Given the description of an element on the screen output the (x, y) to click on. 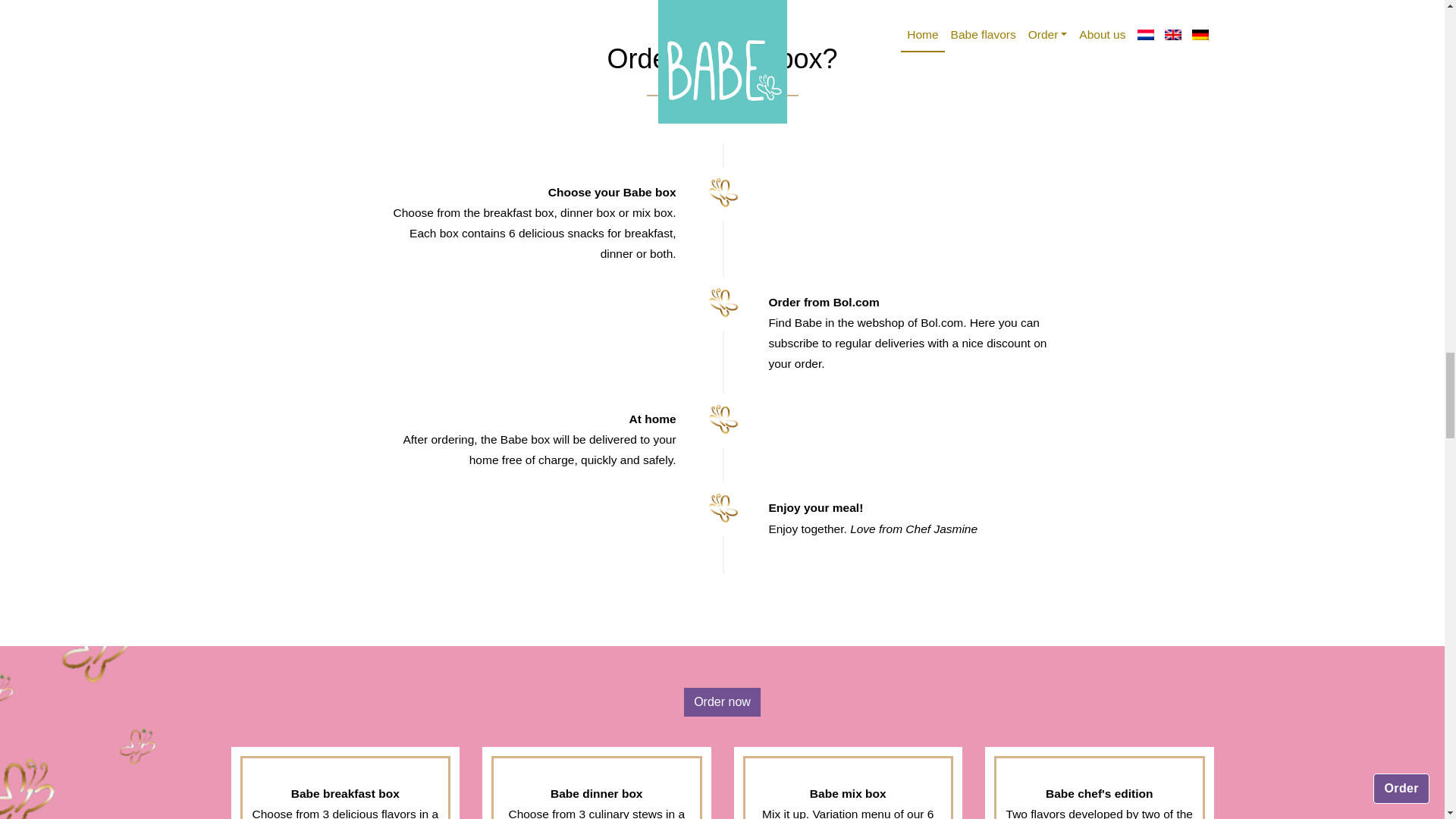
Order now (722, 701)
